Given the description of an element on the screen output the (x, y) to click on. 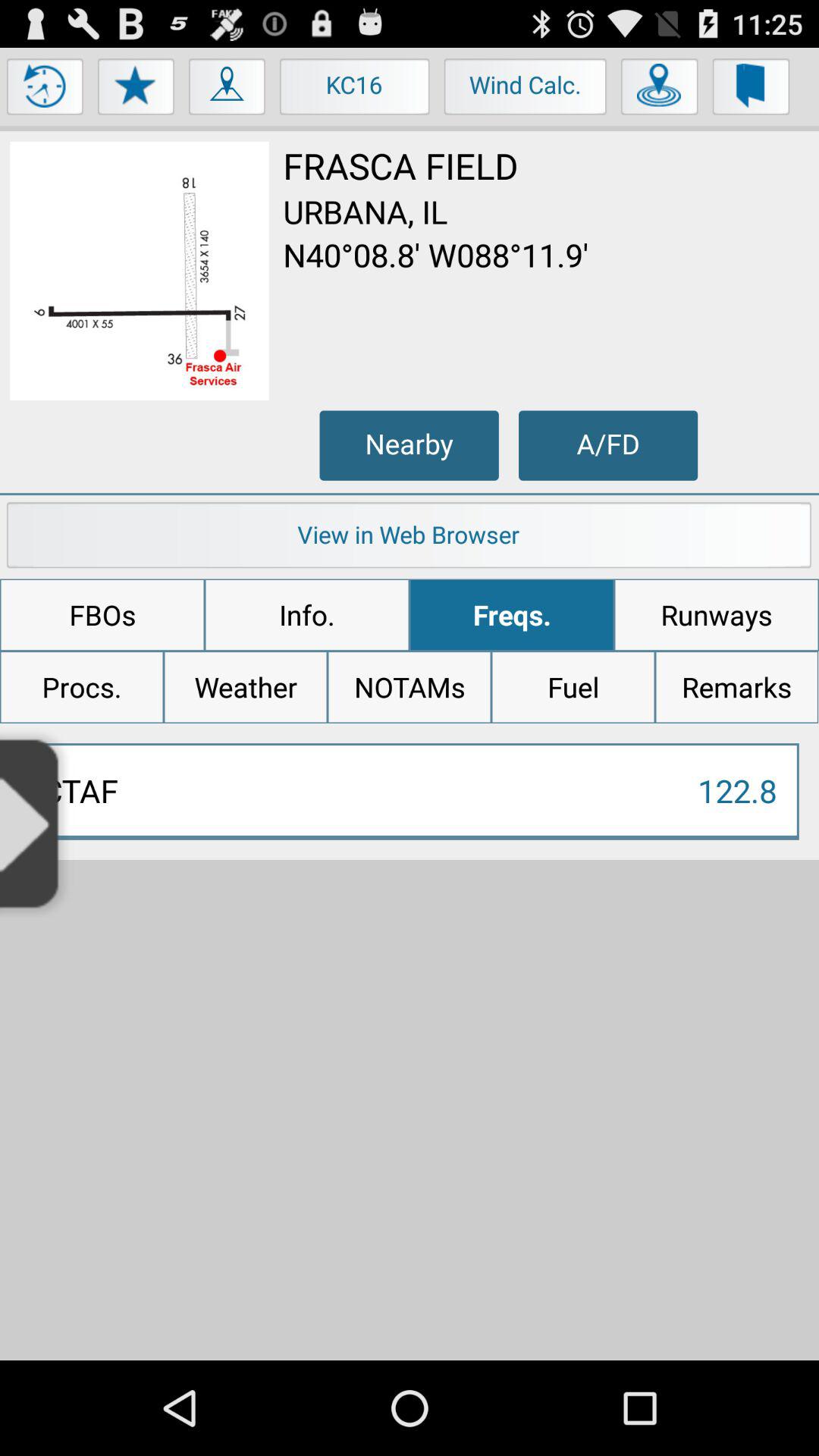
choose the app below n40 08 8 icon (607, 445)
